Given the description of an element on the screen output the (x, y) to click on. 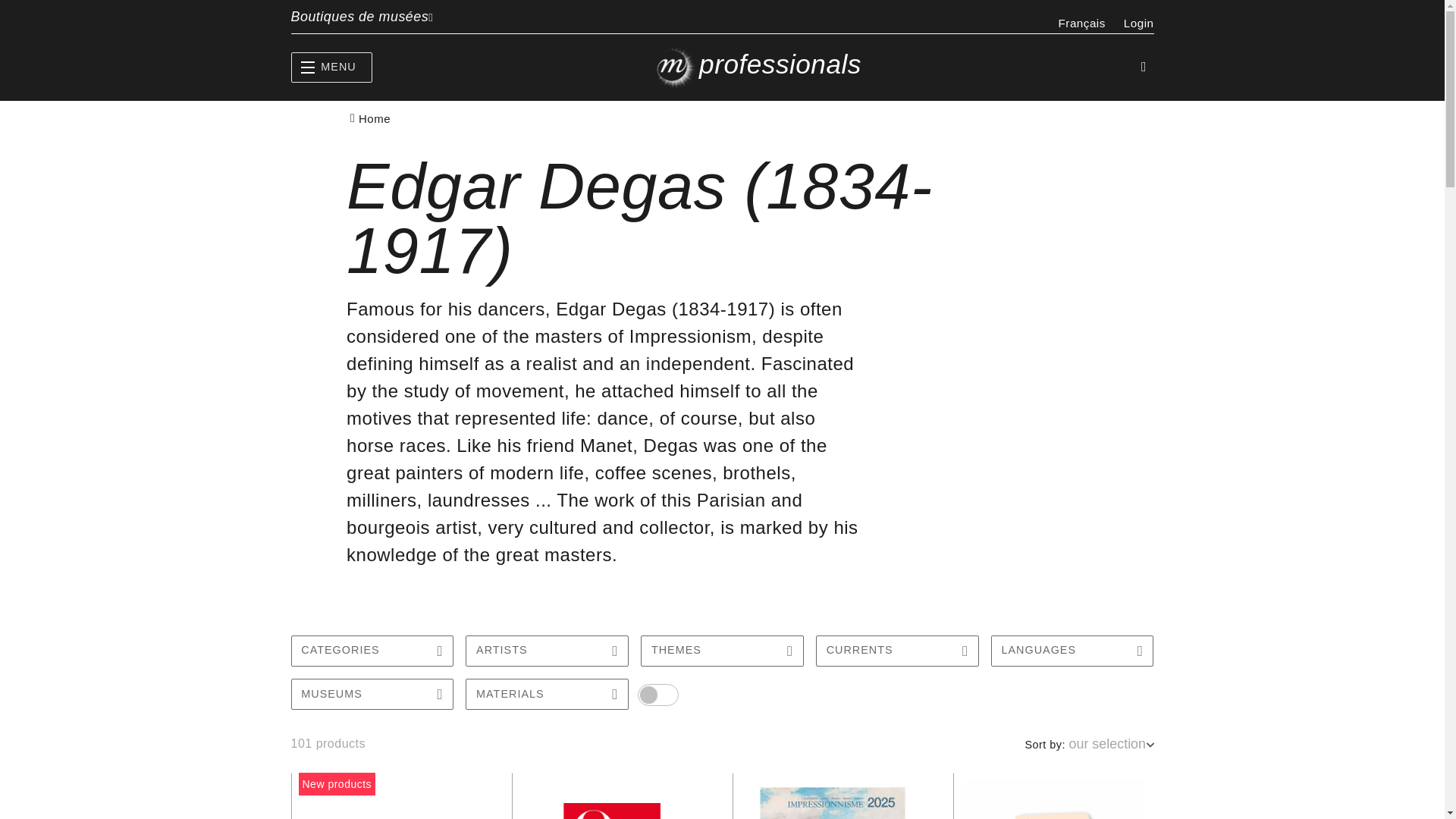
CATEGORIES (372, 650)
professionals (755, 66)
Skip to menu (5, 5)
MENU (331, 67)
Login (1139, 23)
Sort by (1111, 743)
Home (374, 118)
Search (1144, 67)
ARTISTS (546, 650)
